Given the description of an element on the screen output the (x, y) to click on. 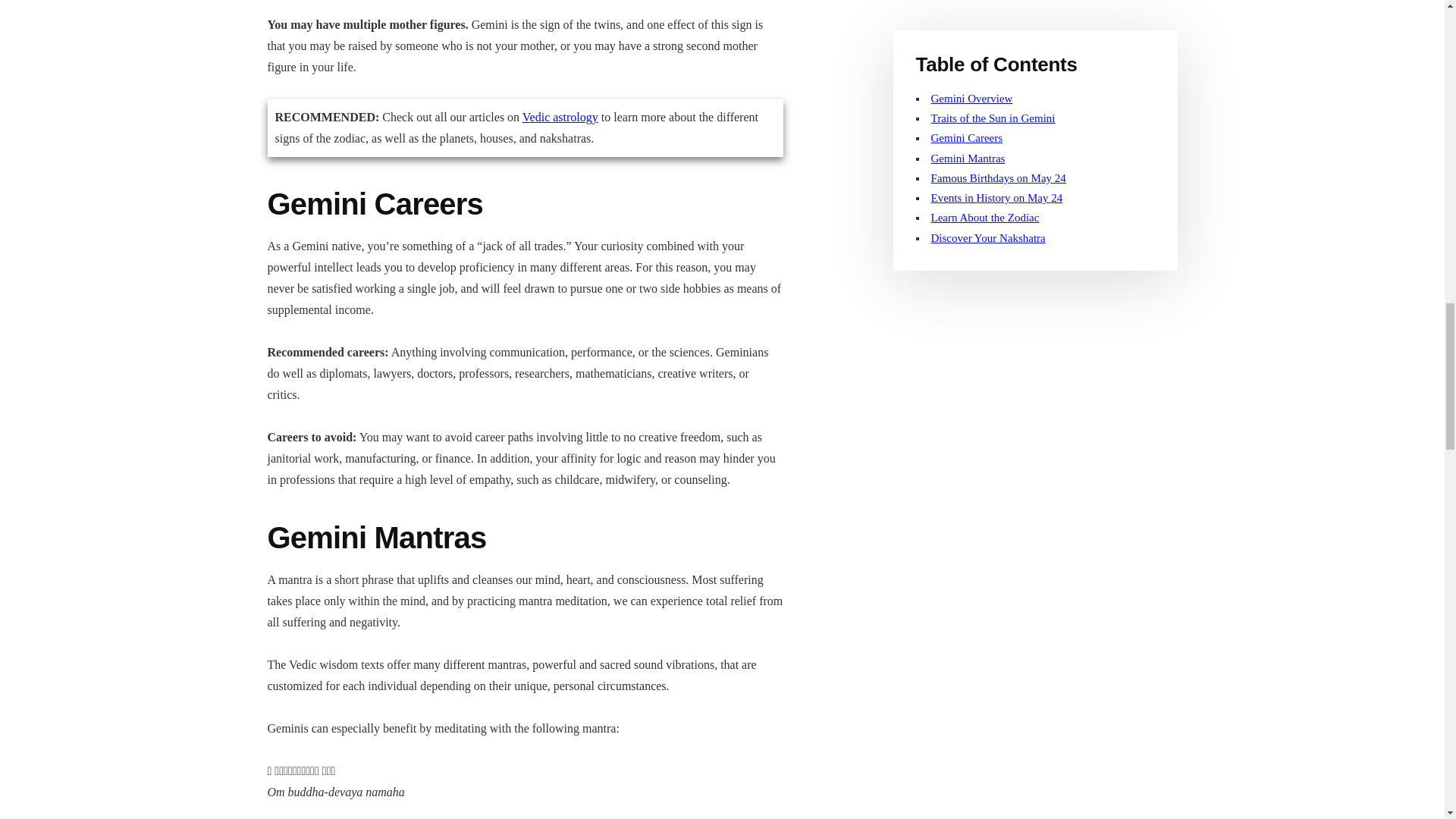
Vedic astrology (560, 116)
